Given the description of an element on the screen output the (x, y) to click on. 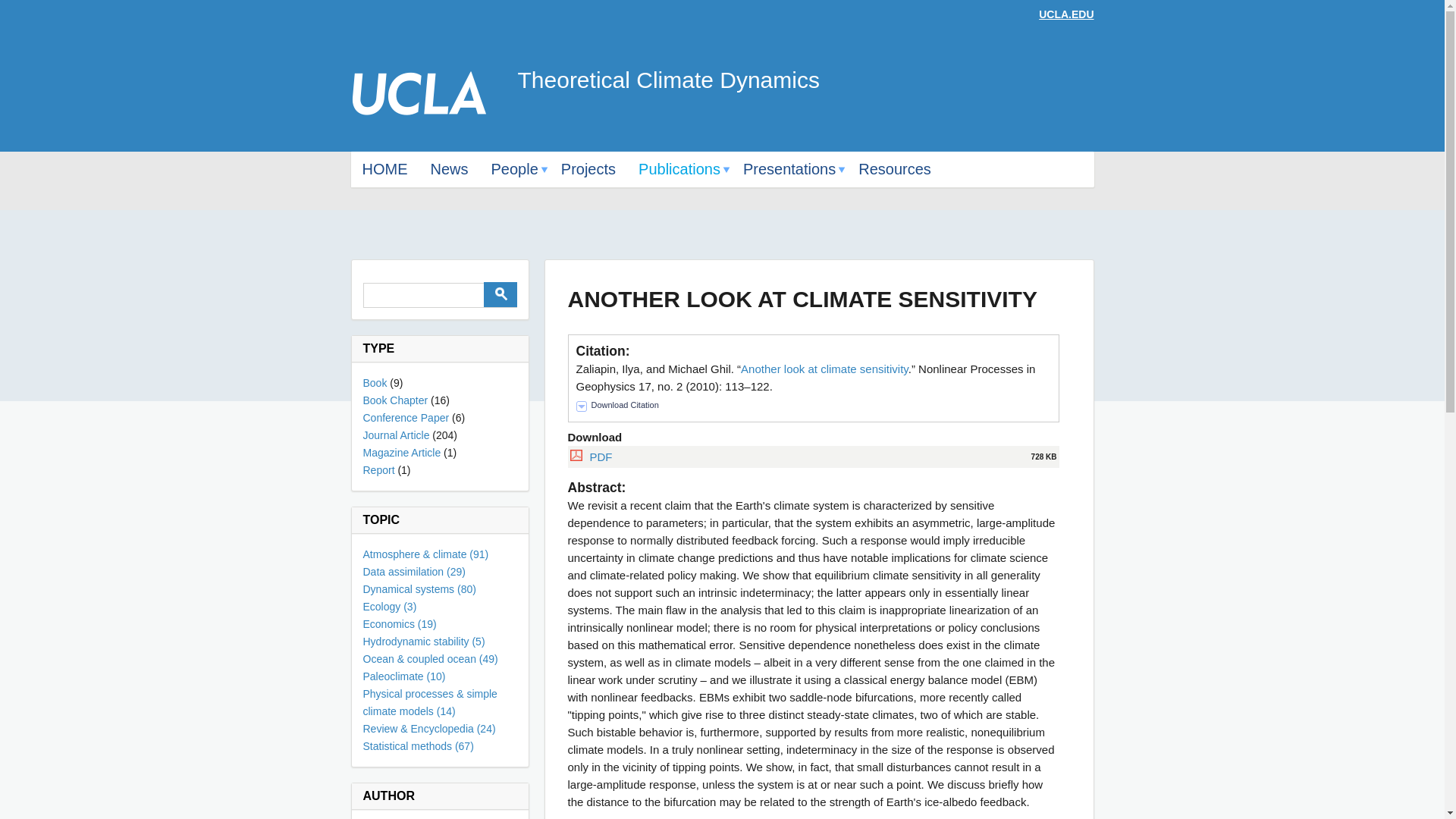
Another look at climate sensitivity (824, 368)
Book (374, 382)
Download Citation (617, 405)
Enter the terms you wish to search for. (439, 294)
UCLA.EDU (1066, 14)
News (449, 169)
Presentations (789, 169)
Journal Article (395, 435)
Resources (894, 169)
Search (499, 294)
Publications (679, 169)
Search (499, 294)
Conference Paper (405, 417)
People (515, 169)
PDF (600, 456)
